Given the description of an element on the screen output the (x, y) to click on. 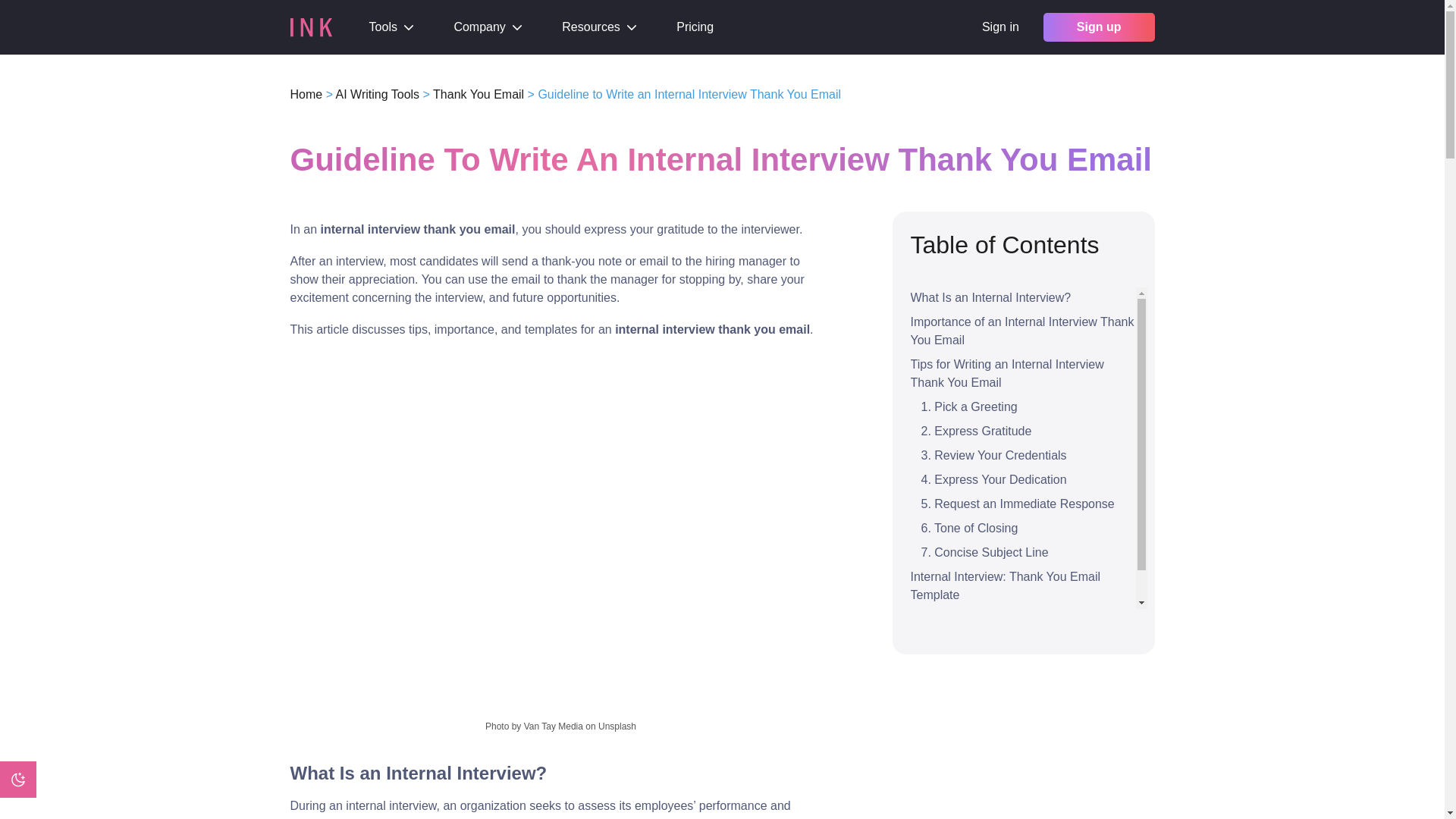
Sign in (1000, 27)
Sign up (1098, 27)
Pricing (694, 27)
